Given the description of an element on the screen output the (x, y) to click on. 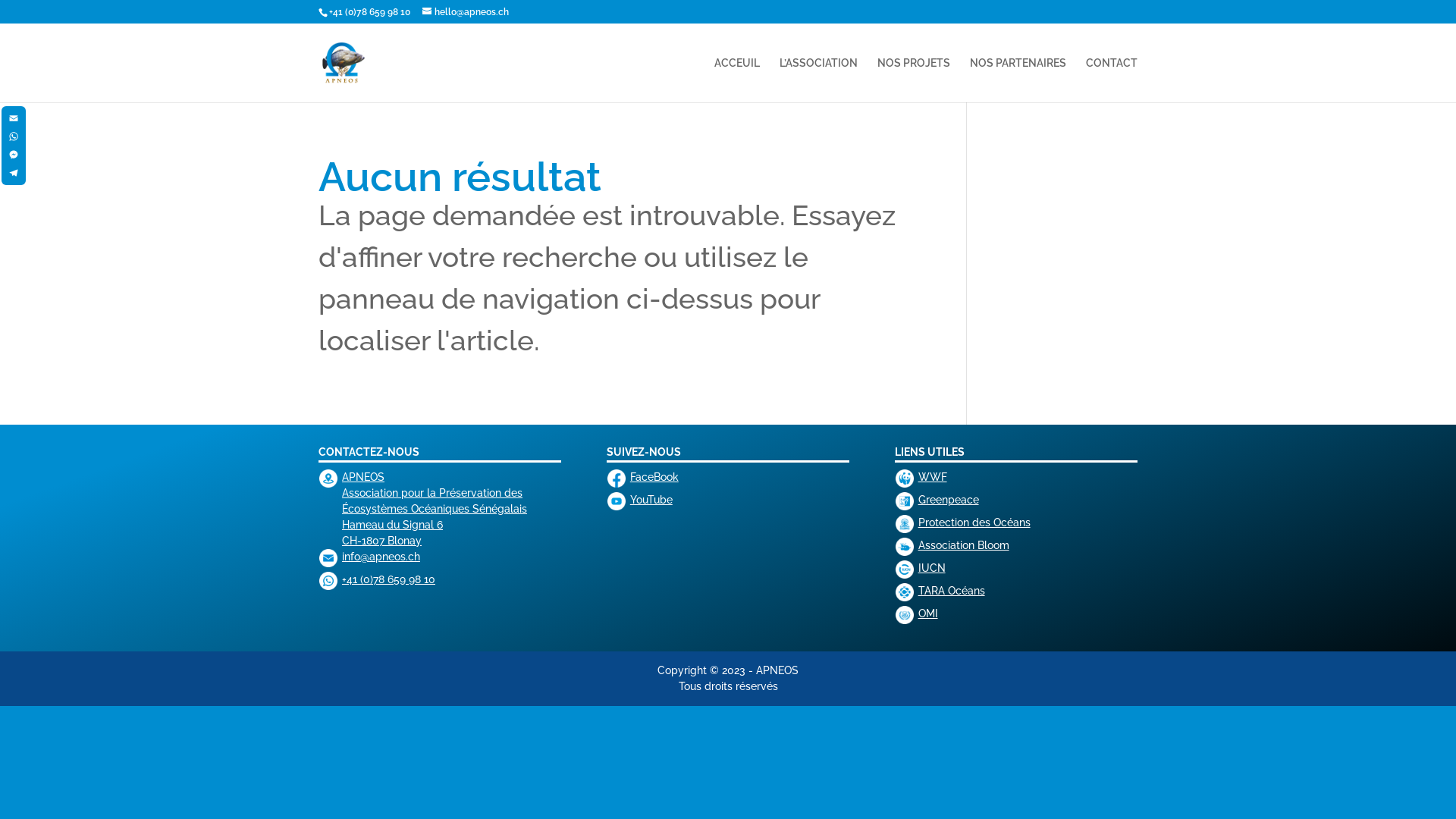
Greenpeace Element type: text (948, 499)
WWF Element type: text (932, 476)
Messenger Element type: text (13, 154)
Association Bloom Element type: text (963, 545)
YouTube Element type: text (651, 499)
ACCEUIL Element type: text (736, 79)
+41 (0)78 659 98 10 Element type: text (388, 579)
IUCN Element type: text (931, 567)
hello@apneos.ch Element type: text (465, 11)
OMI Element type: text (928, 613)
+41 (0)78 659 98 10 Element type: text (369, 11)
FaceBook Element type: text (654, 476)
WhatsApp Element type: text (13, 136)
Email Element type: text (13, 118)
Telegram Element type: text (13, 172)
NOS PARTENAIRES Element type: text (1017, 79)
CONTACT Element type: text (1111, 79)
NOS PROJETS Element type: text (913, 79)
info@apneos.ch Element type: text (381, 556)
